Given the description of an element on the screen output the (x, y) to click on. 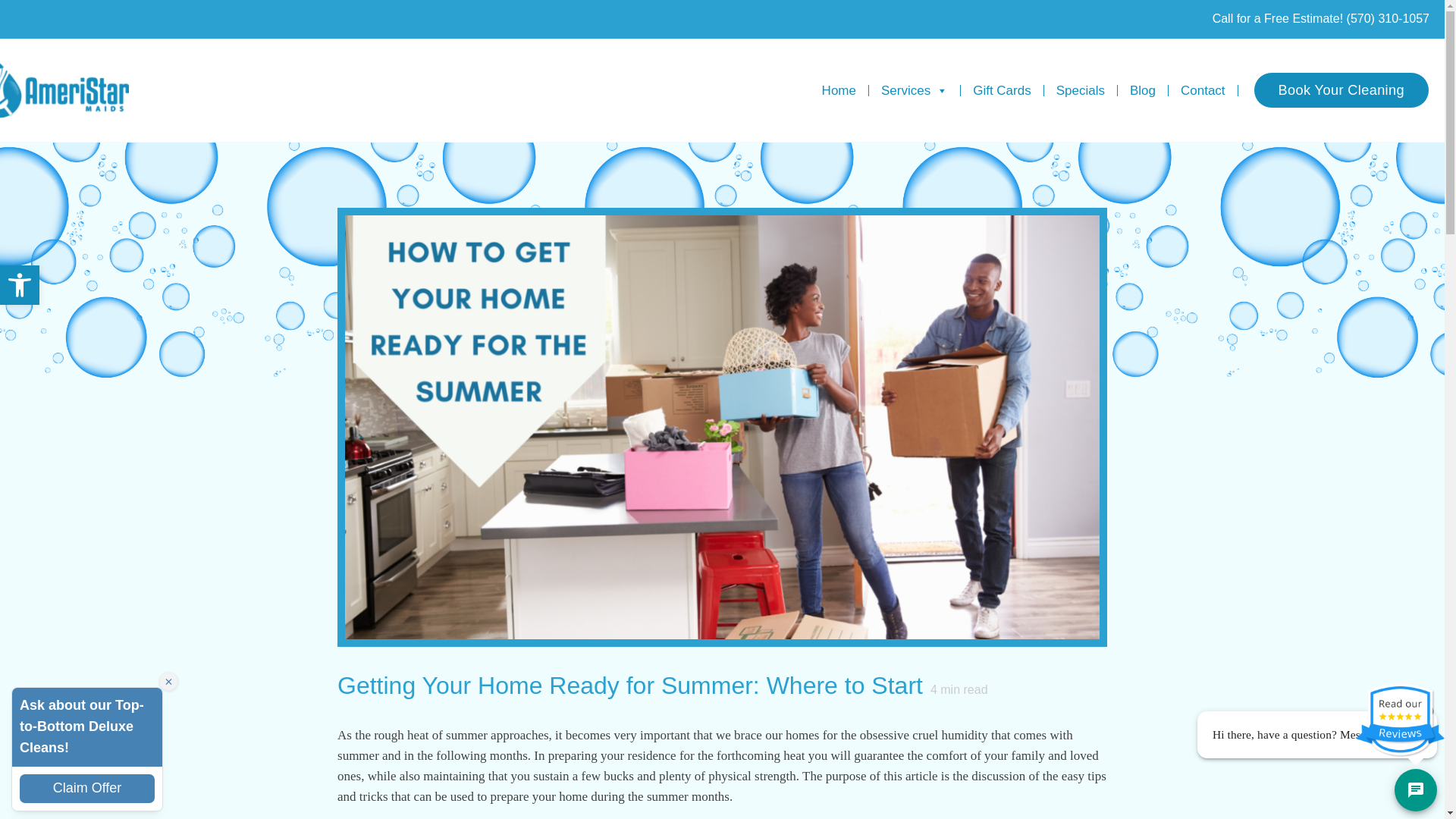
Home (839, 90)
Book Your Cleaning (1341, 90)
Accessibility Tools (19, 284)
Gift Cards (1001, 90)
Accessibility Tools (19, 284)
Specials (1080, 90)
